Given the description of an element on the screen output the (x, y) to click on. 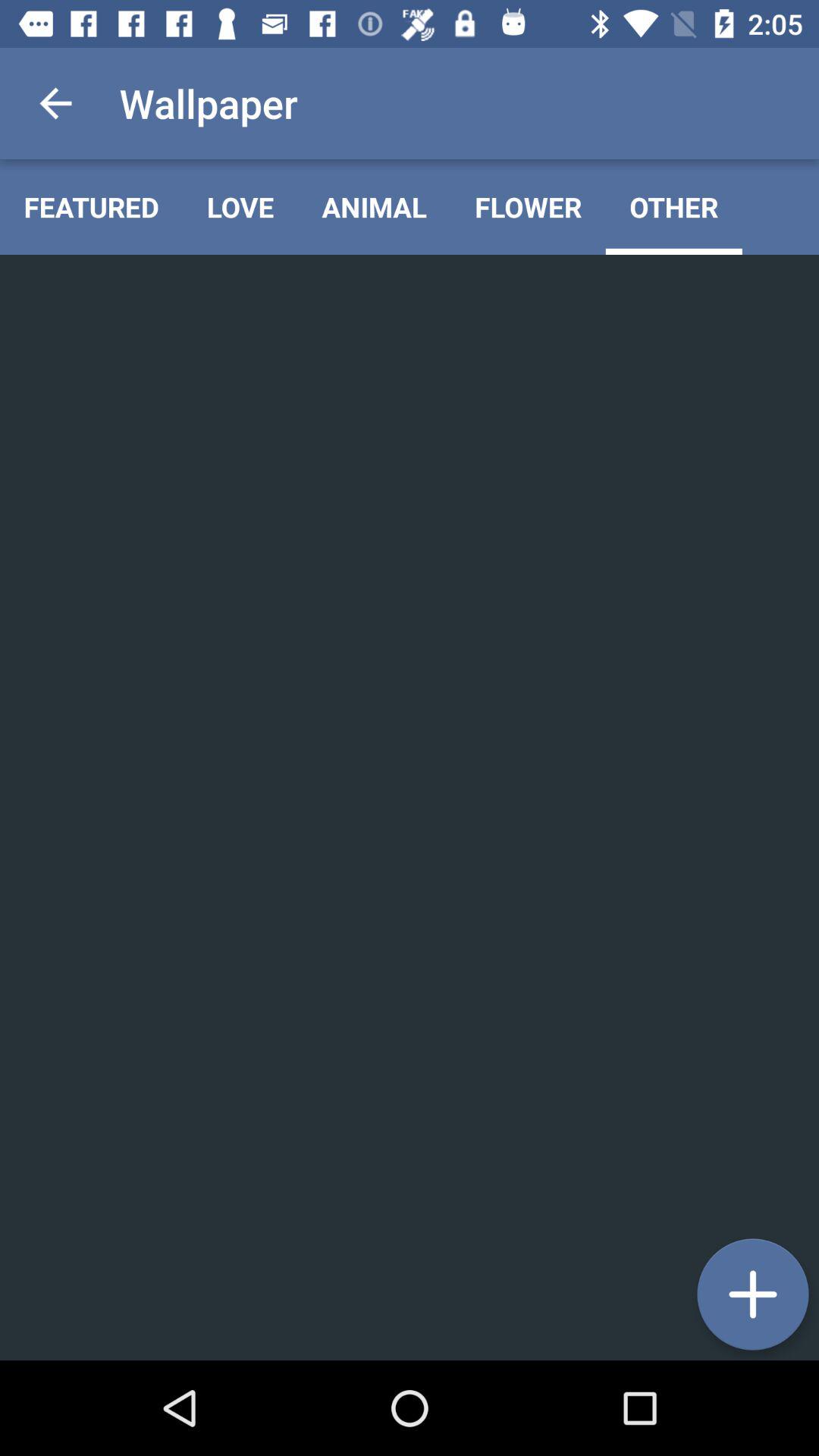
flip until the flower (527, 206)
